Given the description of an element on the screen output the (x, y) to click on. 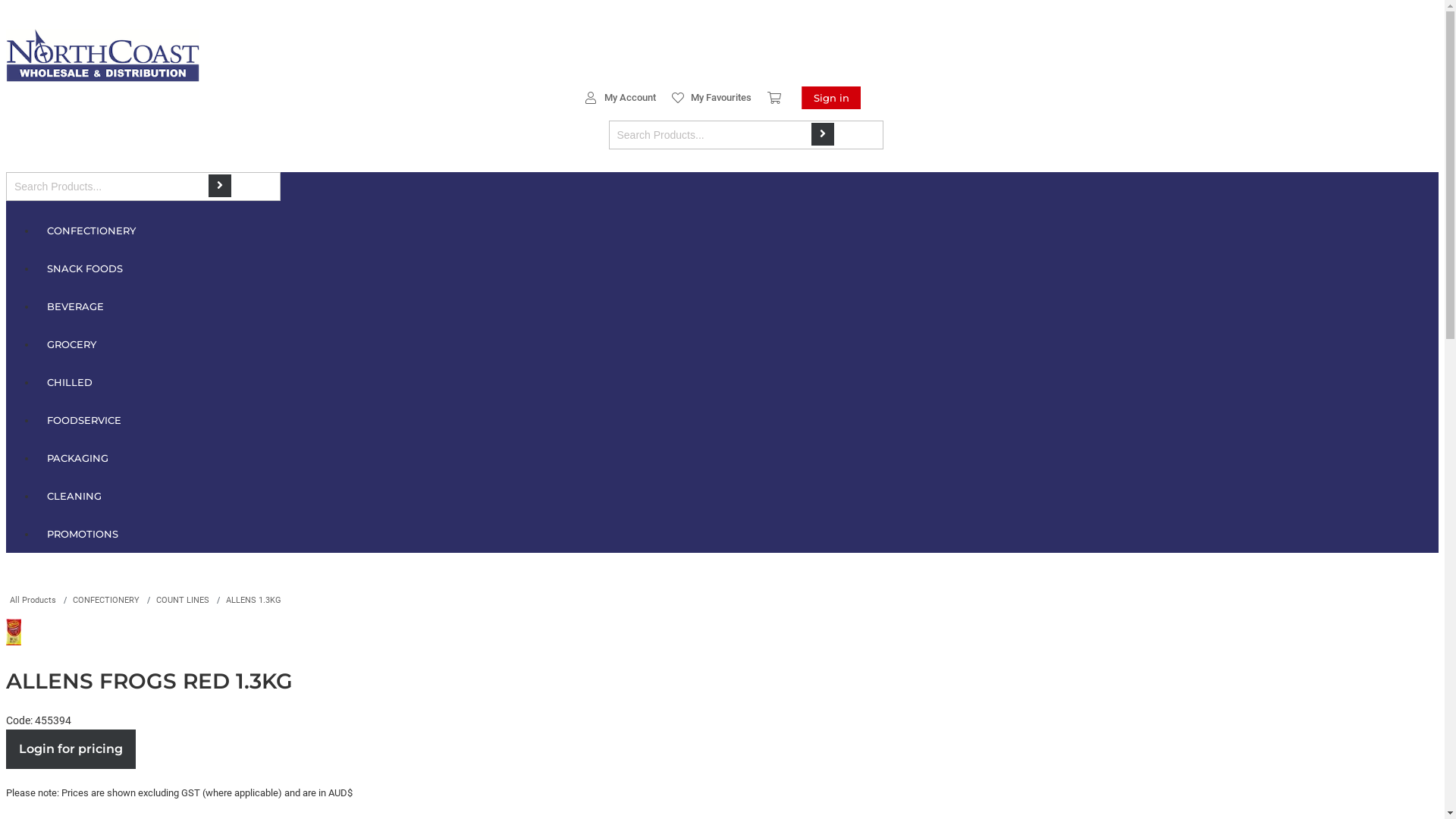
My Account Element type: text (619, 97)
GROCERY Element type: text (737, 344)
ALLENS 1.3KG Element type: text (253, 600)
CHILLED Element type: text (737, 382)
Sign in Element type: text (829, 97)
All Products Element type: text (32, 600)
PACKAGING Element type: text (737, 457)
My Favourites Element type: text (710, 97)
CONFECTIONERY Element type: text (737, 230)
SNACK FOODS Element type: text (737, 268)
PROMOTIONS Element type: text (737, 533)
FOODSERVICE Element type: text (737, 420)
COUNT LINES Element type: text (182, 600)
CLEANING Element type: text (737, 495)
BEVERAGE Element type: text (737, 306)
CONFECTIONERY Element type: text (105, 600)
Login for pricing Element type: text (70, 748)
